Given the description of an element on the screen output the (x, y) to click on. 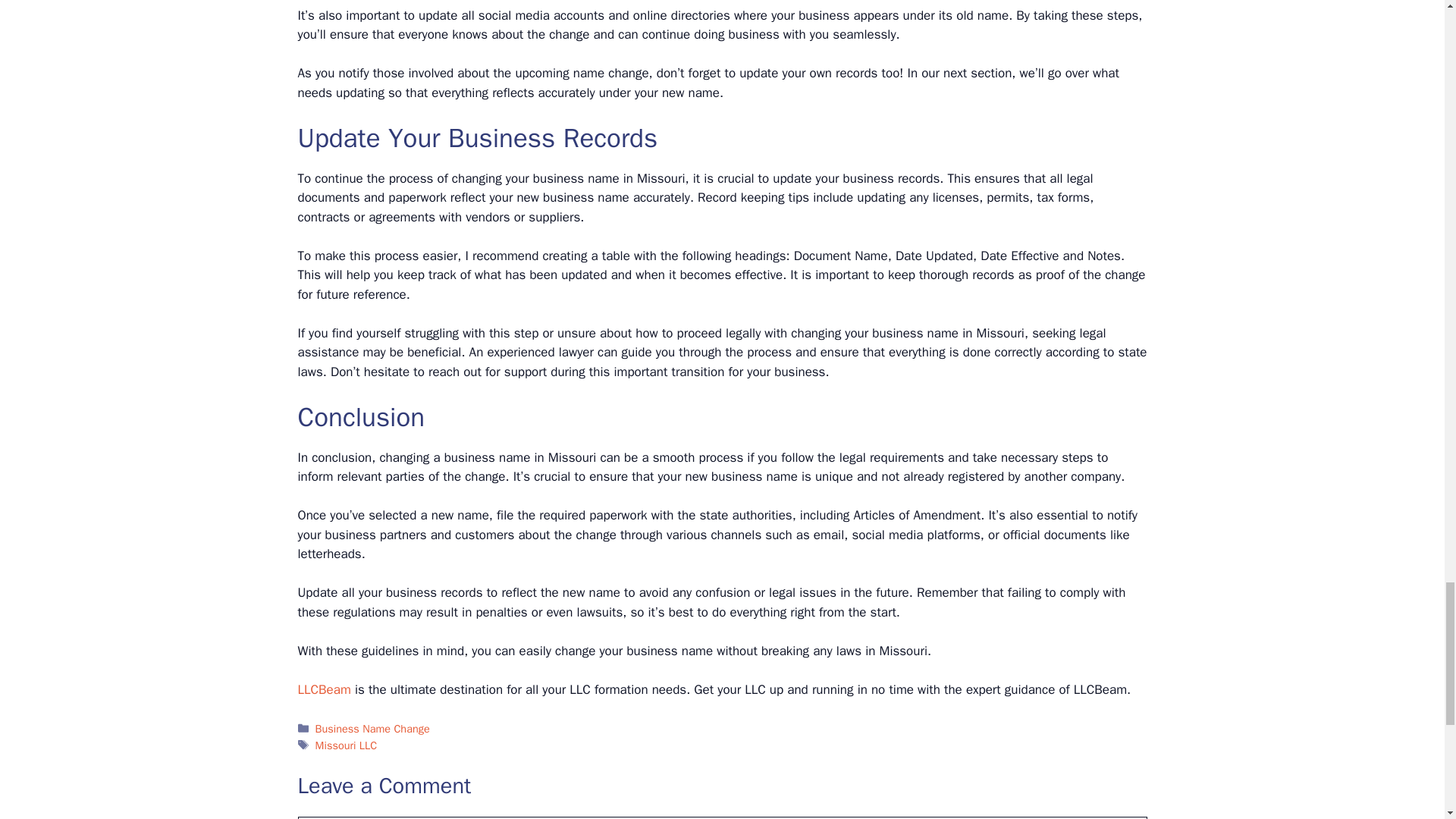
Missouri LLC (346, 745)
LLCBeam (323, 689)
Business Name Change (372, 728)
LLCBeam (323, 689)
